Given the description of an element on the screen output the (x, y) to click on. 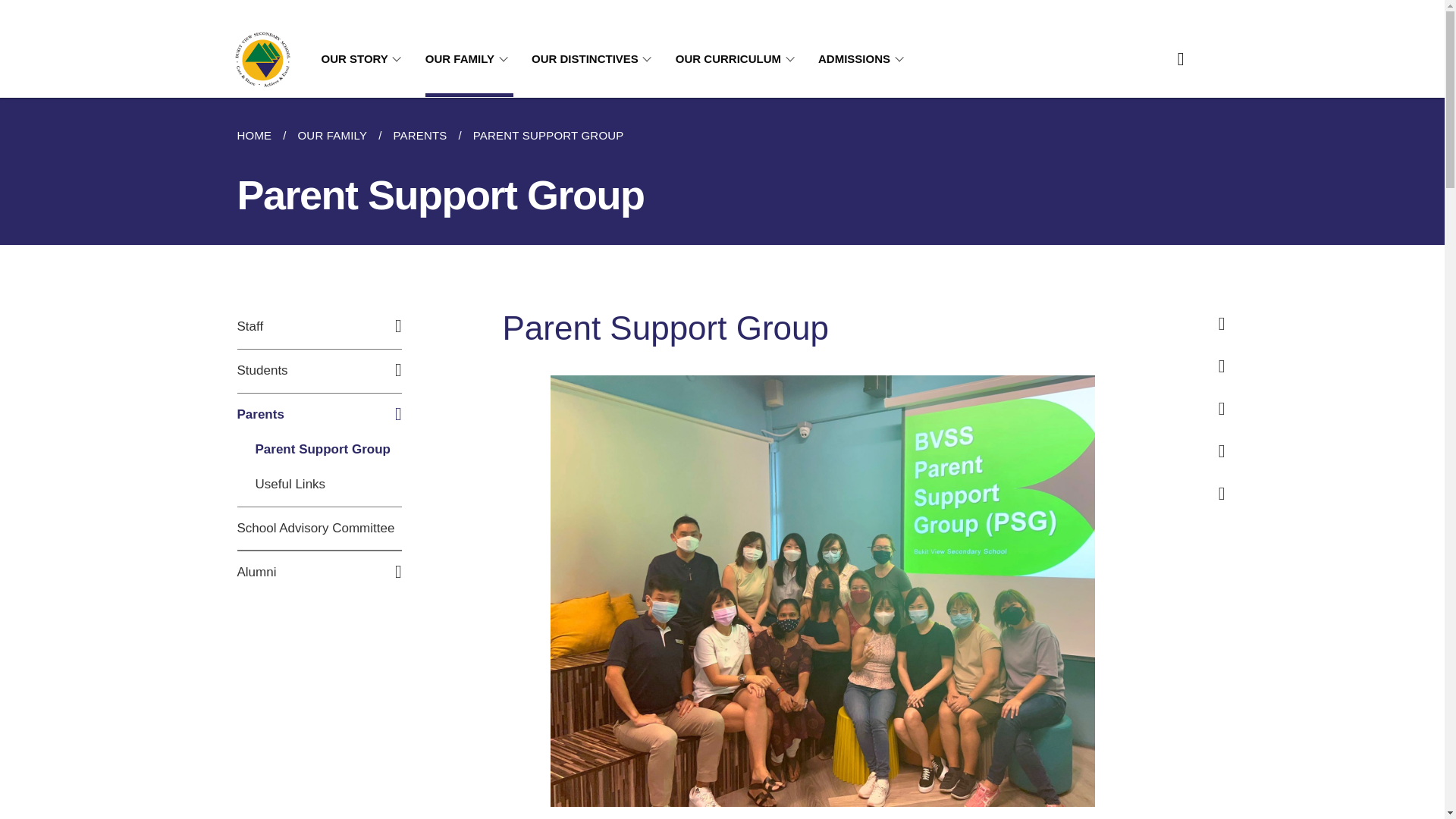
ADMISSIONS (863, 59)
OUR CURRICULUM (737, 59)
OUR FAMILY (469, 59)
PARENT SUPPORT GROUP (547, 135)
OUR FAMILY (331, 135)
HOME (258, 135)
OUR DISTINCTIVES (594, 59)
PARENTS (419, 135)
OUR STORY (364, 59)
